Given the description of an element on the screen output the (x, y) to click on. 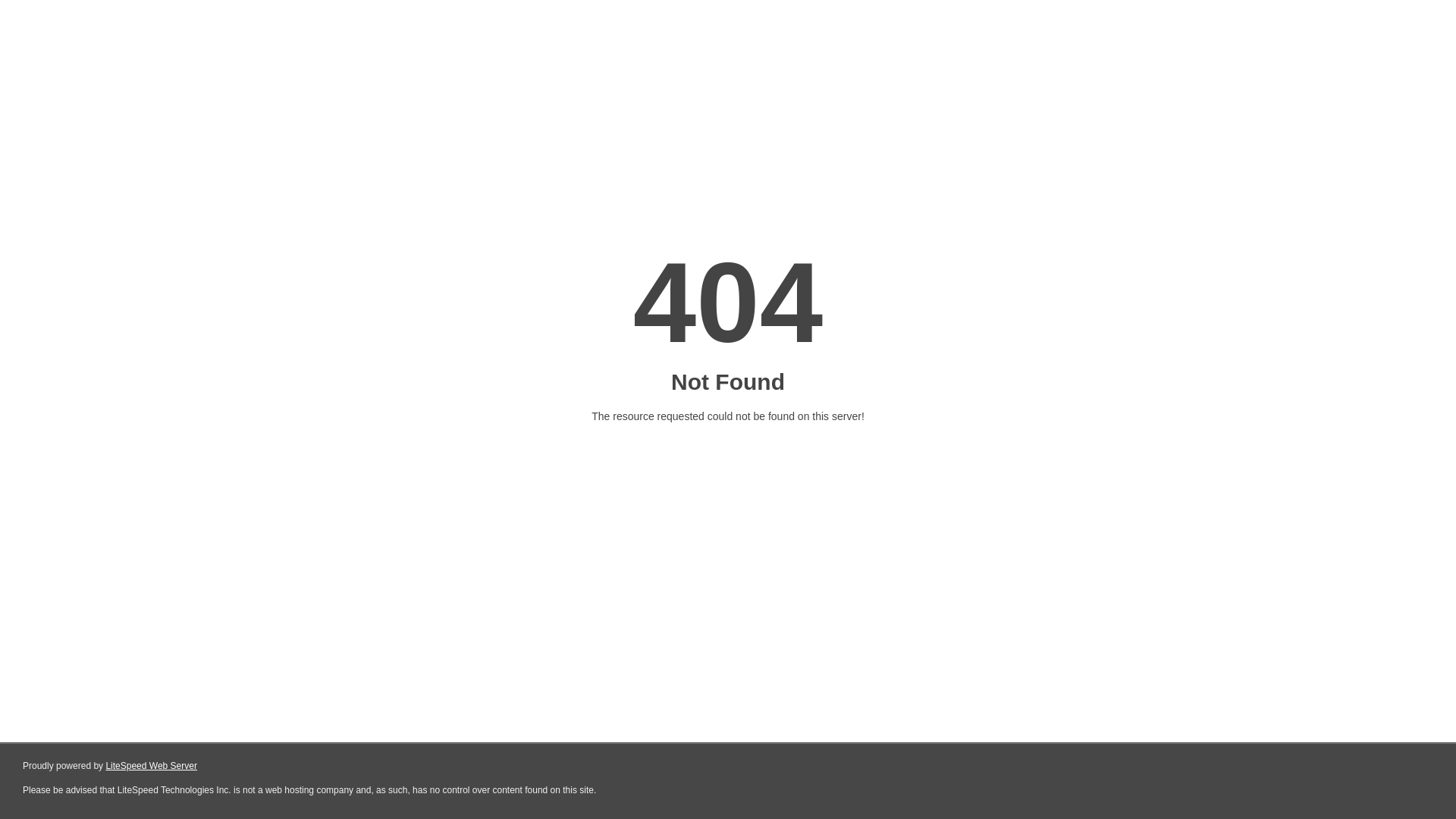
LiteSpeed Web Server Element type: text (151, 765)
